Given the description of an element on the screen output the (x, y) to click on. 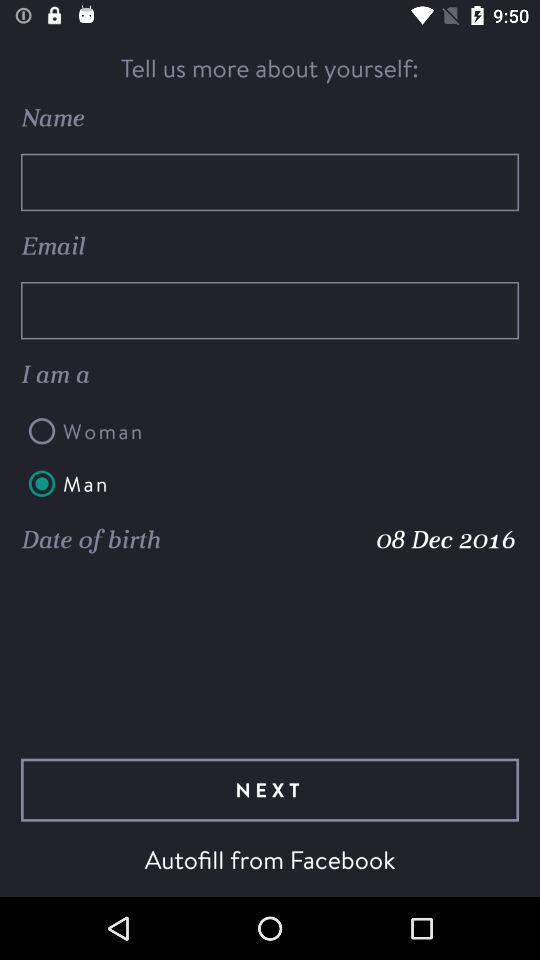
turn off item above the i am a (269, 310)
